Given the description of an element on the screen output the (x, y) to click on. 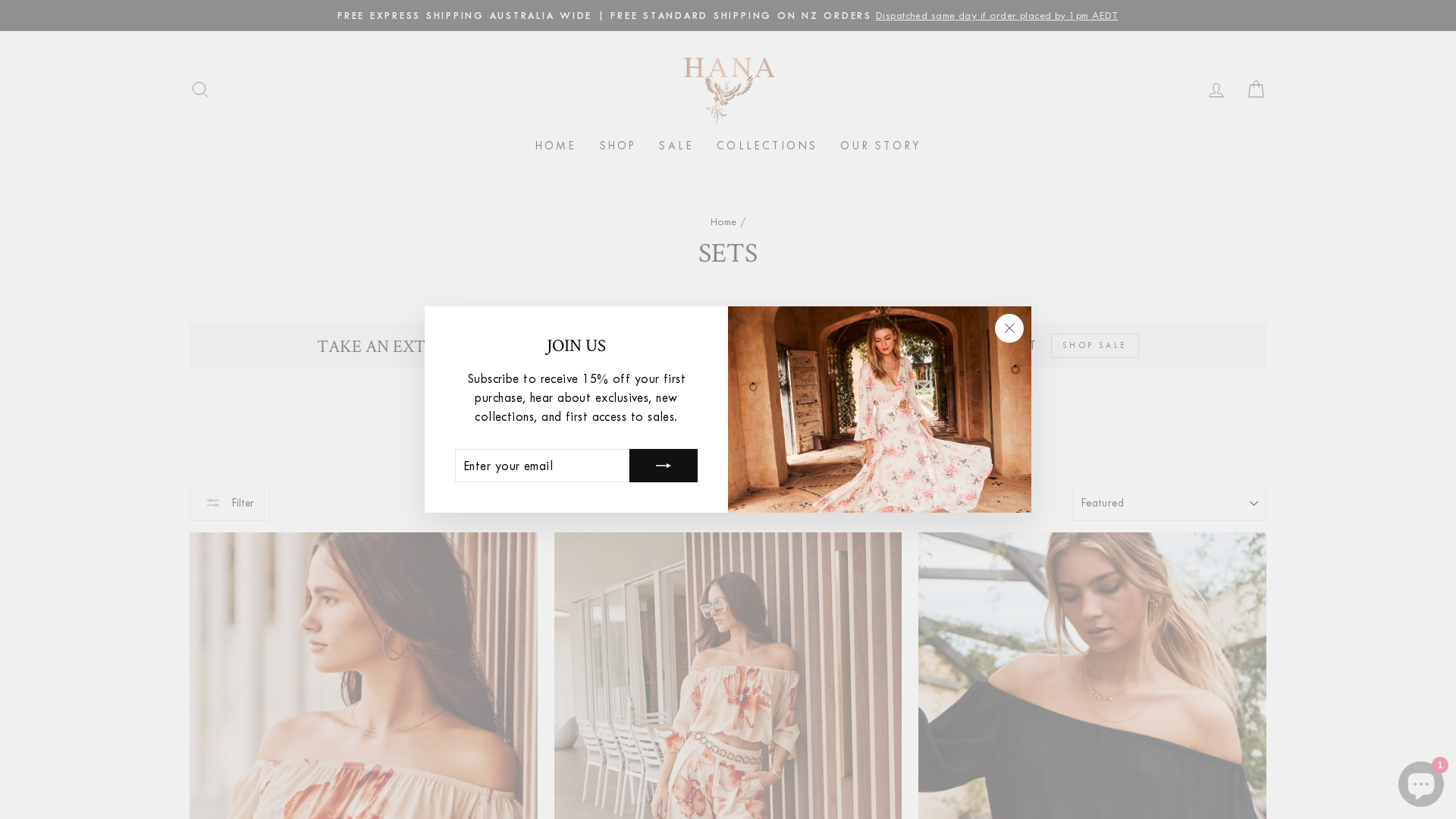
Filter Element type: text (229, 503)
HOME Element type: text (556, 146)
SHOP Element type: text (618, 146)
OUR STORY Element type: text (879, 146)
LOG IN Element type: text (1216, 89)
Home Element type: text (723, 221)
SALE Element type: text (676, 146)
CART Element type: text (1255, 89)
Shopify online store chat Element type: hover (1420, 780)
"Close (esc)" Element type: text (1008, 327)
Skip to content Element type: text (0, 0)
COLLECTIONS Element type: text (766, 146)
SEARCH Element type: text (199, 89)
